Given the description of an element on the screen output the (x, y) to click on. 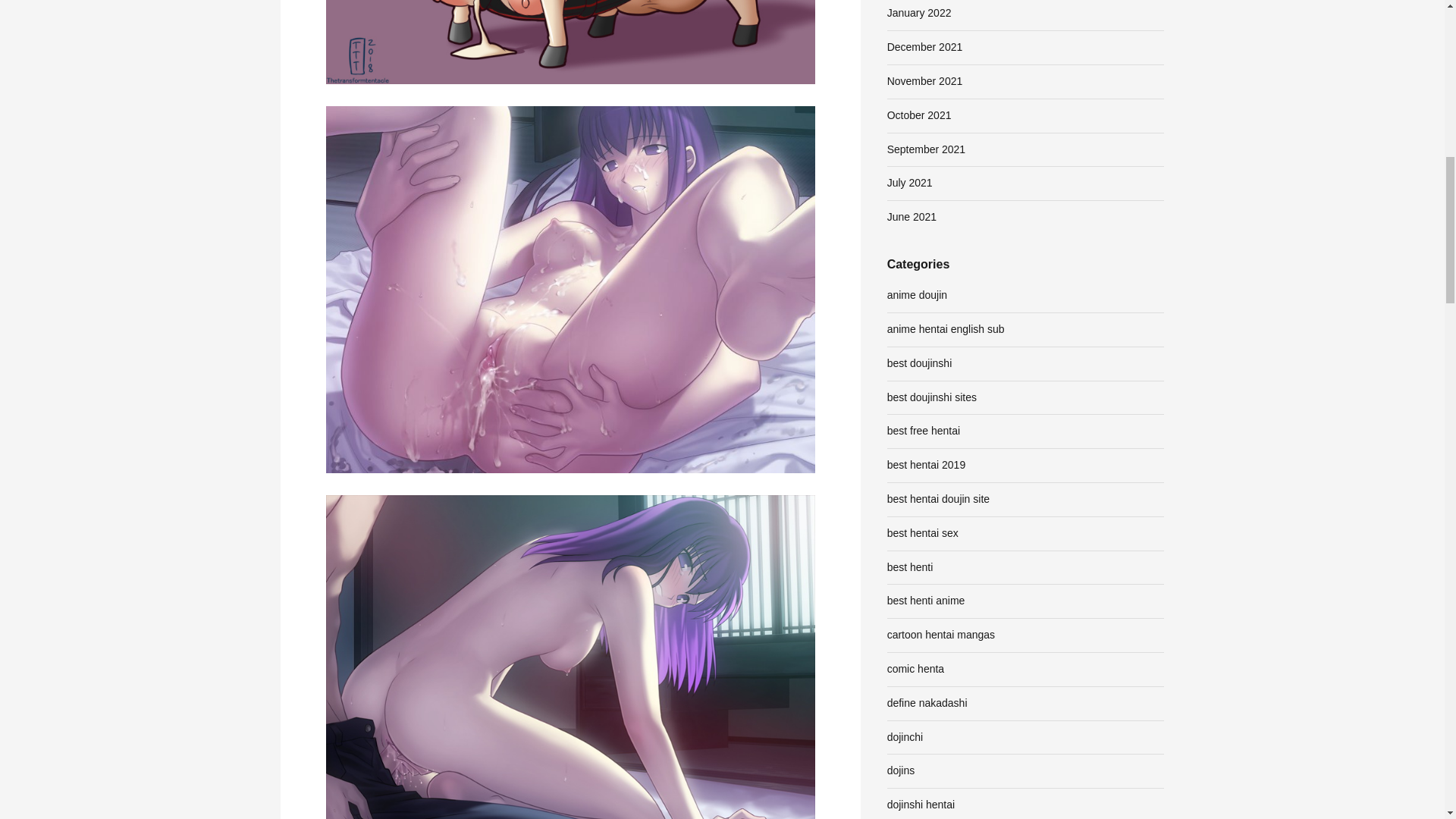
June 2021 (911, 216)
January 2022 (919, 12)
November 2021 (924, 80)
best doujinshi (919, 363)
December 2021 (924, 46)
July 2021 (909, 182)
October 2021 (919, 114)
anime doujin (916, 295)
anime hentai english sub (945, 328)
September 2021 (926, 149)
